Given the description of an element on the screen output the (x, y) to click on. 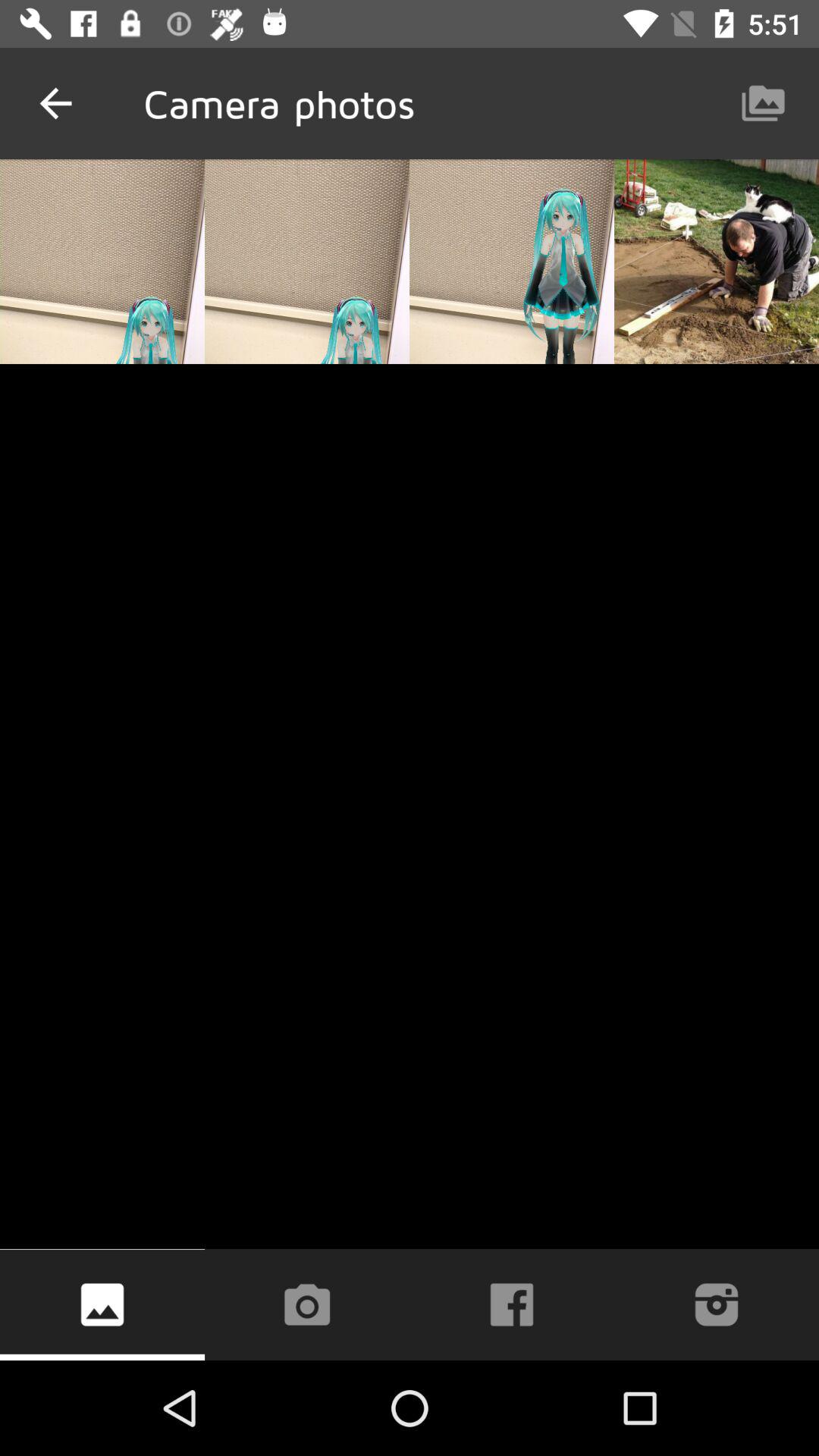
take photo (306, 1304)
